Given the description of an element on the screen output the (x, y) to click on. 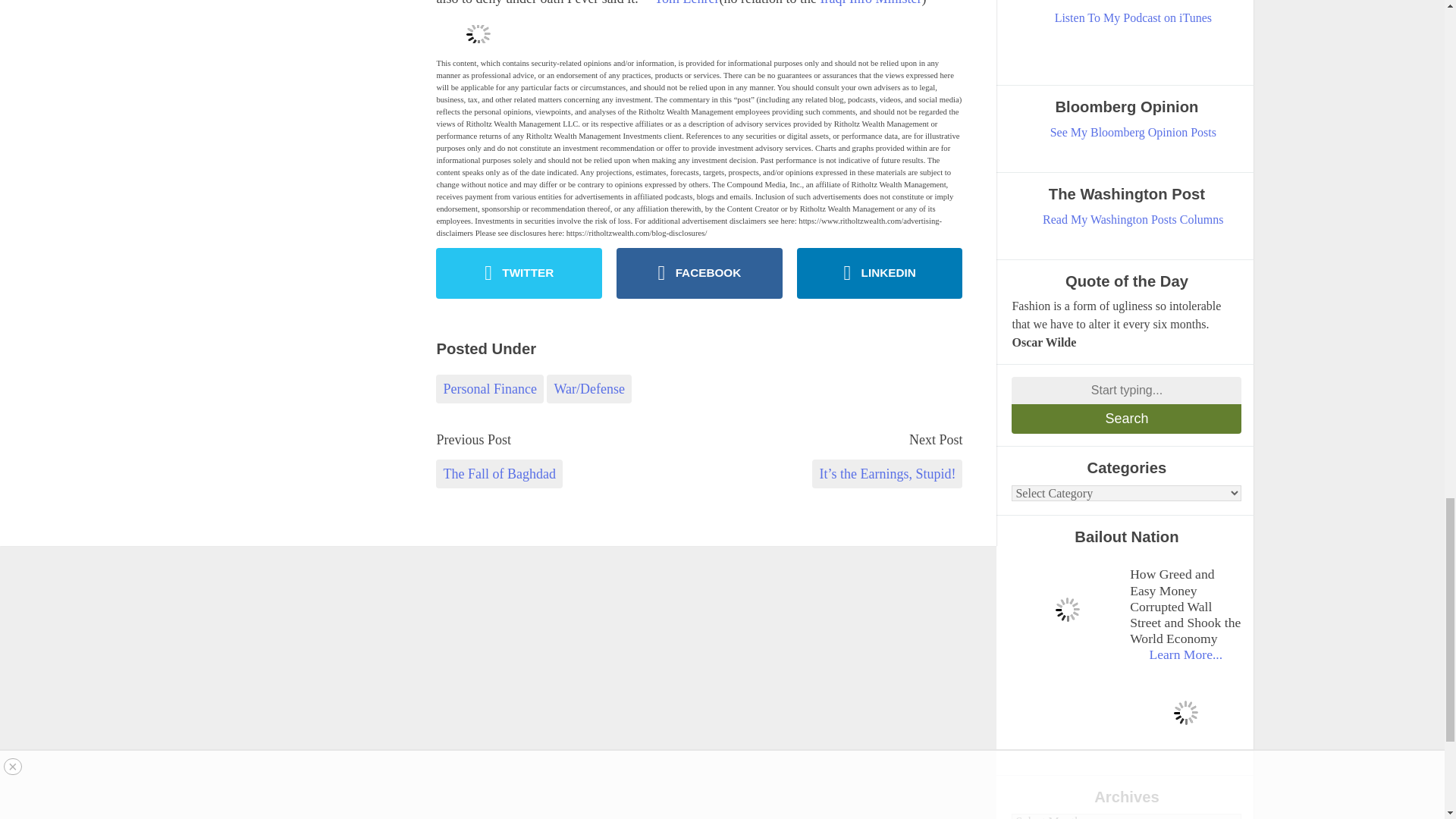
Bailout Nation (1066, 609)
Search (1126, 419)
Listen To My Podcast on iTunes (1132, 18)
LINKEDIN (879, 273)
The Fall of Baghdad (498, 473)
See My Bloomberg Opinion Posts (1132, 132)
FACEBOOK (699, 273)
Minister (898, 2)
Read My Washington Posts Columns (1132, 219)
Tom Lehrer (686, 2)
Personal Finance (489, 388)
TWITTER (518, 273)
Iraqi Info (846, 2)
Search (1126, 419)
Search (1126, 419)
